Given the description of an element on the screen output the (x, y) to click on. 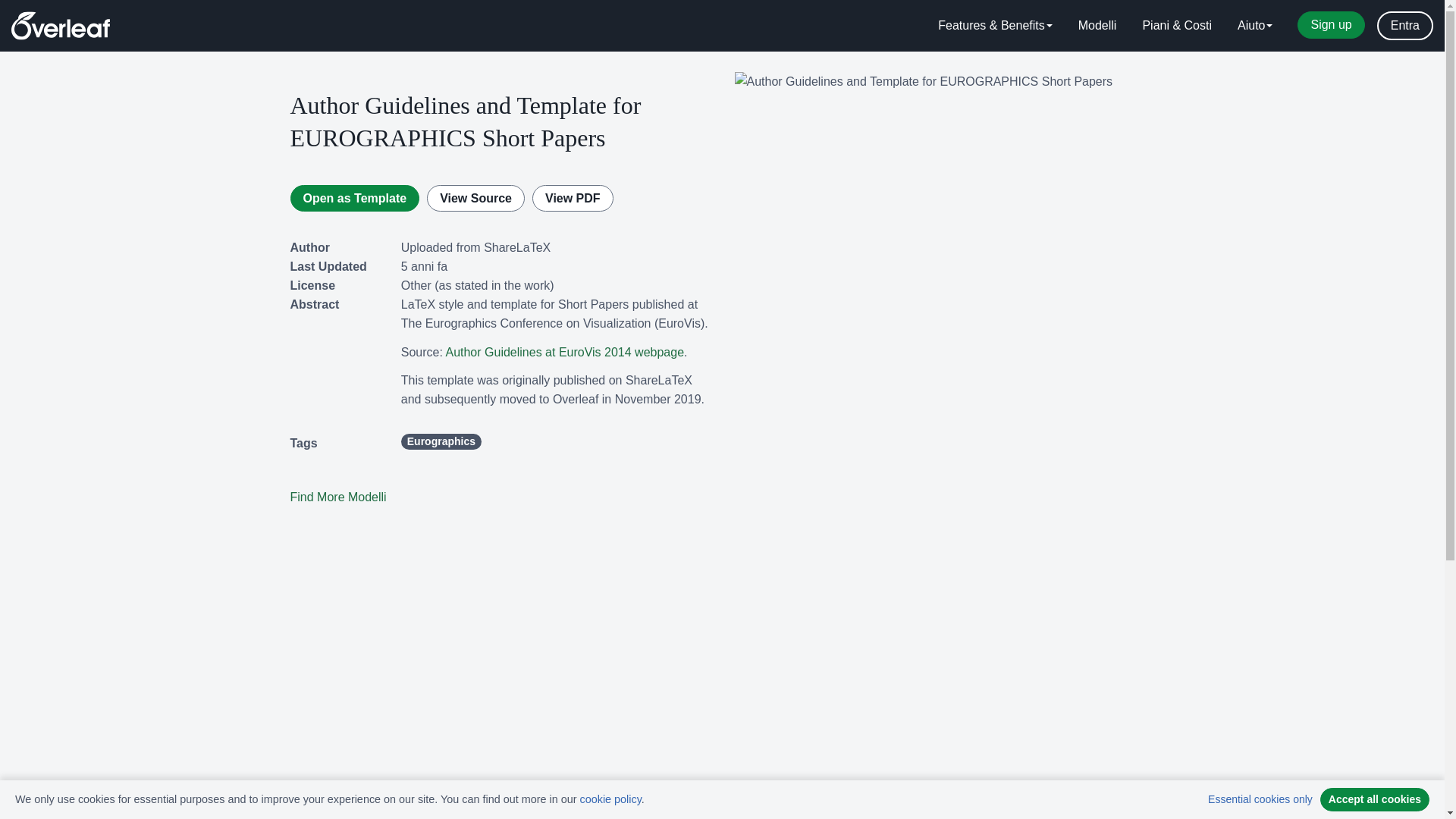
Open as Template (354, 198)
Sign up (1330, 24)
View Source (475, 198)
Entra (1404, 25)
Eurographics (441, 441)
Aiuto (1254, 25)
Find More Modelli (337, 496)
View PDF (572, 198)
Modelli (1097, 25)
Author Guidelines at EuroVis 2014 webpage (564, 351)
